Given the description of an element on the screen output the (x, y) to click on. 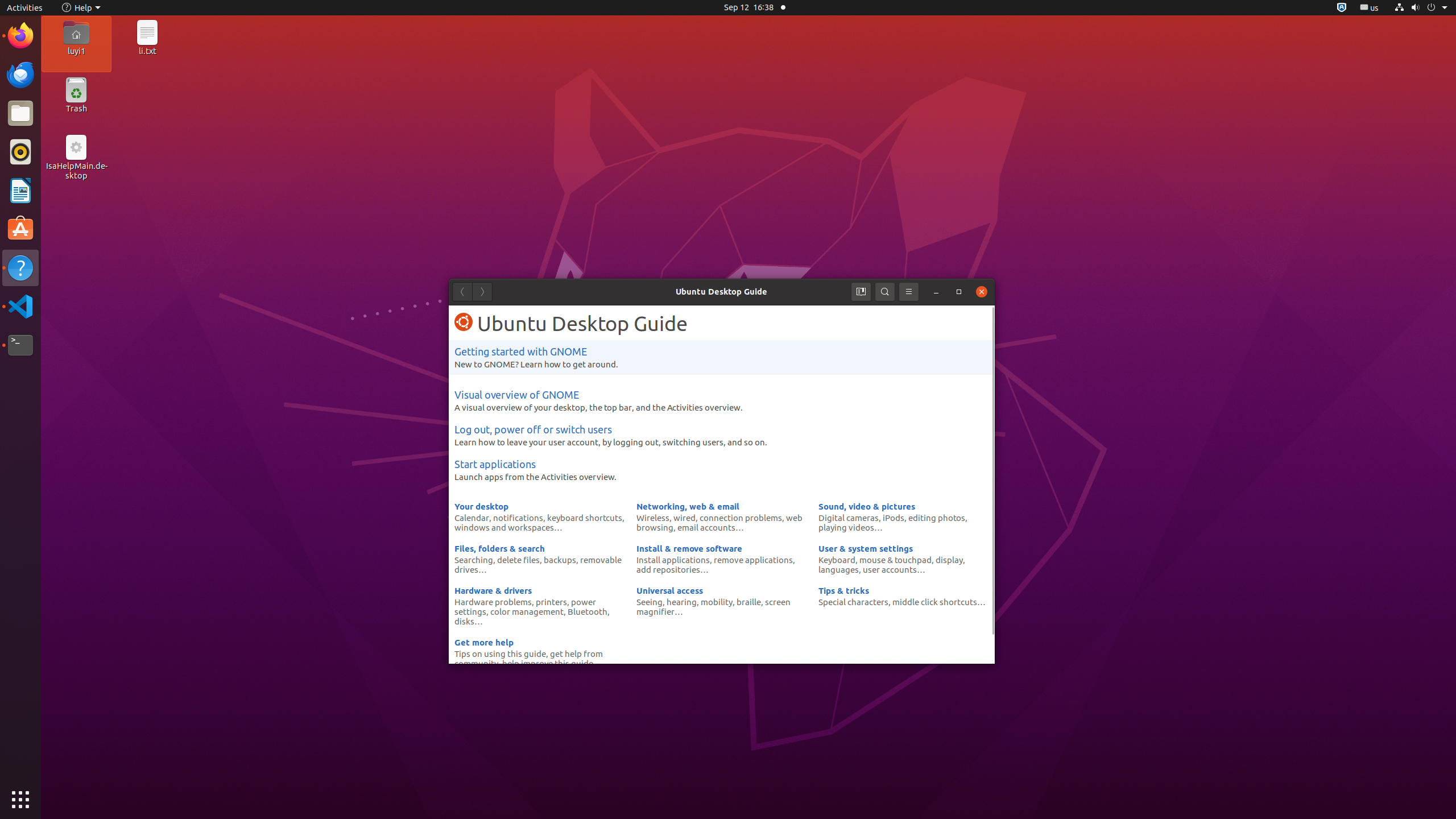
iPods Element type: link (893, 517)
Menu Element type: toggle-button (908, 291)
Forward Element type: push-button (482, 291)
Back Element type: push-button (462, 291)
